Given the description of an element on the screen output the (x, y) to click on. 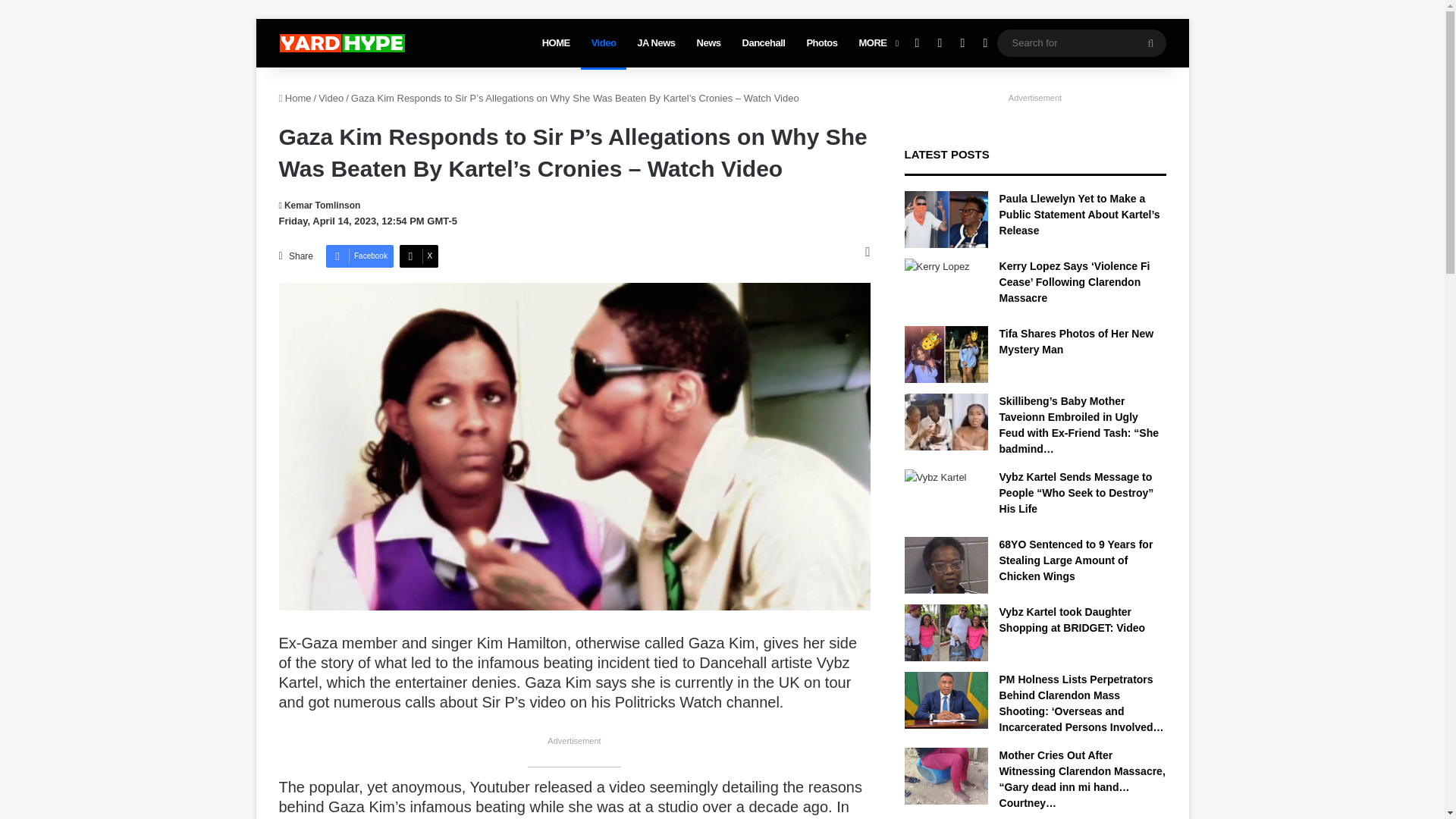
X (418, 255)
X (418, 255)
News (708, 42)
HOME (555, 42)
Facebook (359, 255)
Search for (1080, 42)
Kemar Tomlinson (320, 204)
Search for (1150, 42)
Video (330, 98)
YARDHYPE (341, 43)
